Given the description of an element on the screen output the (x, y) to click on. 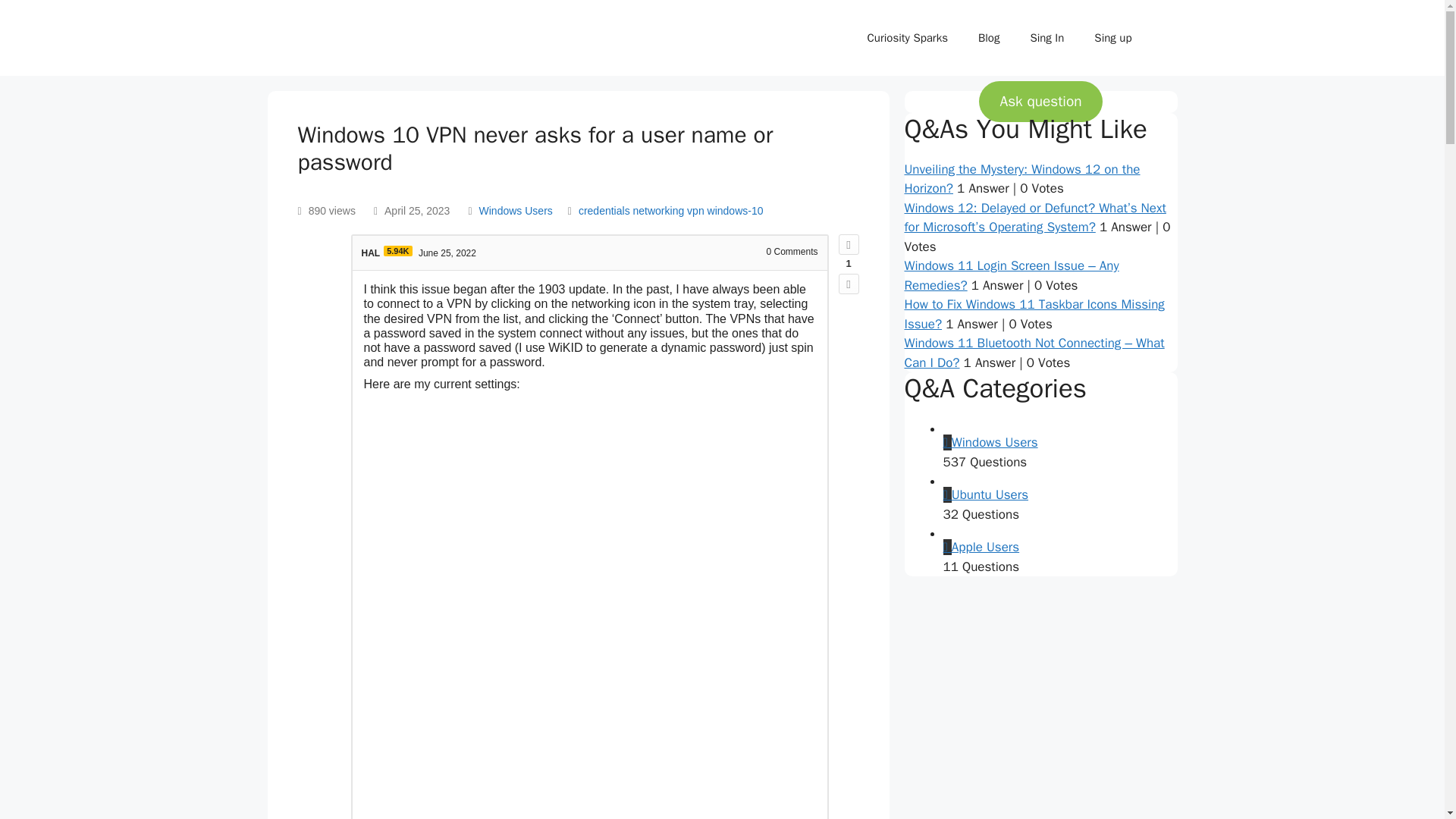
Blog (988, 37)
Reputation (398, 250)
vpn (695, 210)
networking (658, 210)
Down vote this question (848, 283)
Sing In (1046, 37)
Curiosity Sparks (906, 37)
credentials (604, 210)
Windows Users (516, 210)
Ask question (1040, 101)
HAL (370, 253)
Sing up (1112, 37)
5.94K (398, 250)
windows-10 (734, 210)
For help MS Windows users solve their problems. (516, 210)
